Given the description of an element on the screen output the (x, y) to click on. 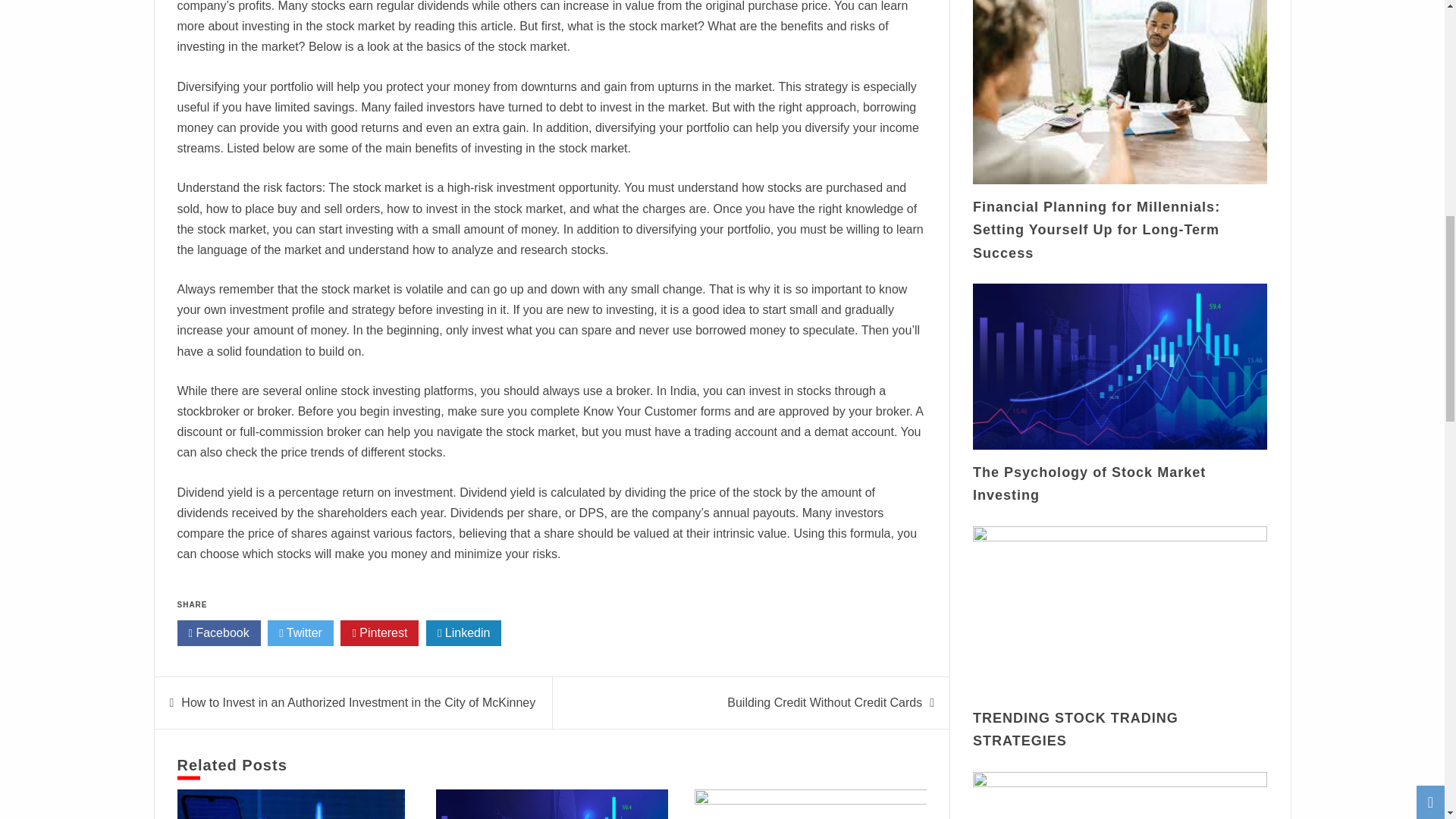
The Psychology of Stock Market Investing (1088, 483)
Facebook (218, 632)
Twitter (300, 632)
Linkedin (464, 632)
Building Credit Without Credit Cards (823, 702)
Pinterest (379, 632)
